Given the description of an element on the screen output the (x, y) to click on. 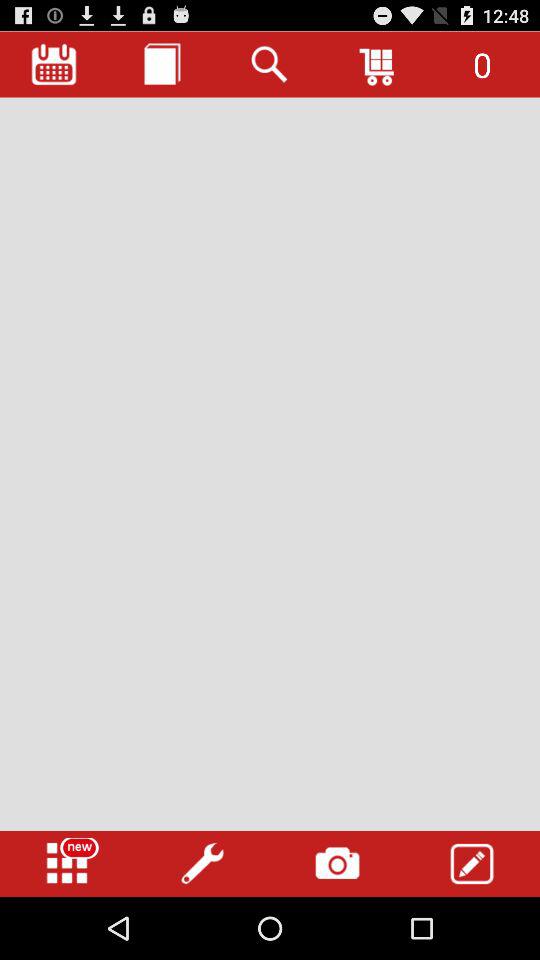
camera option (337, 863)
